Given the description of an element on the screen output the (x, y) to click on. 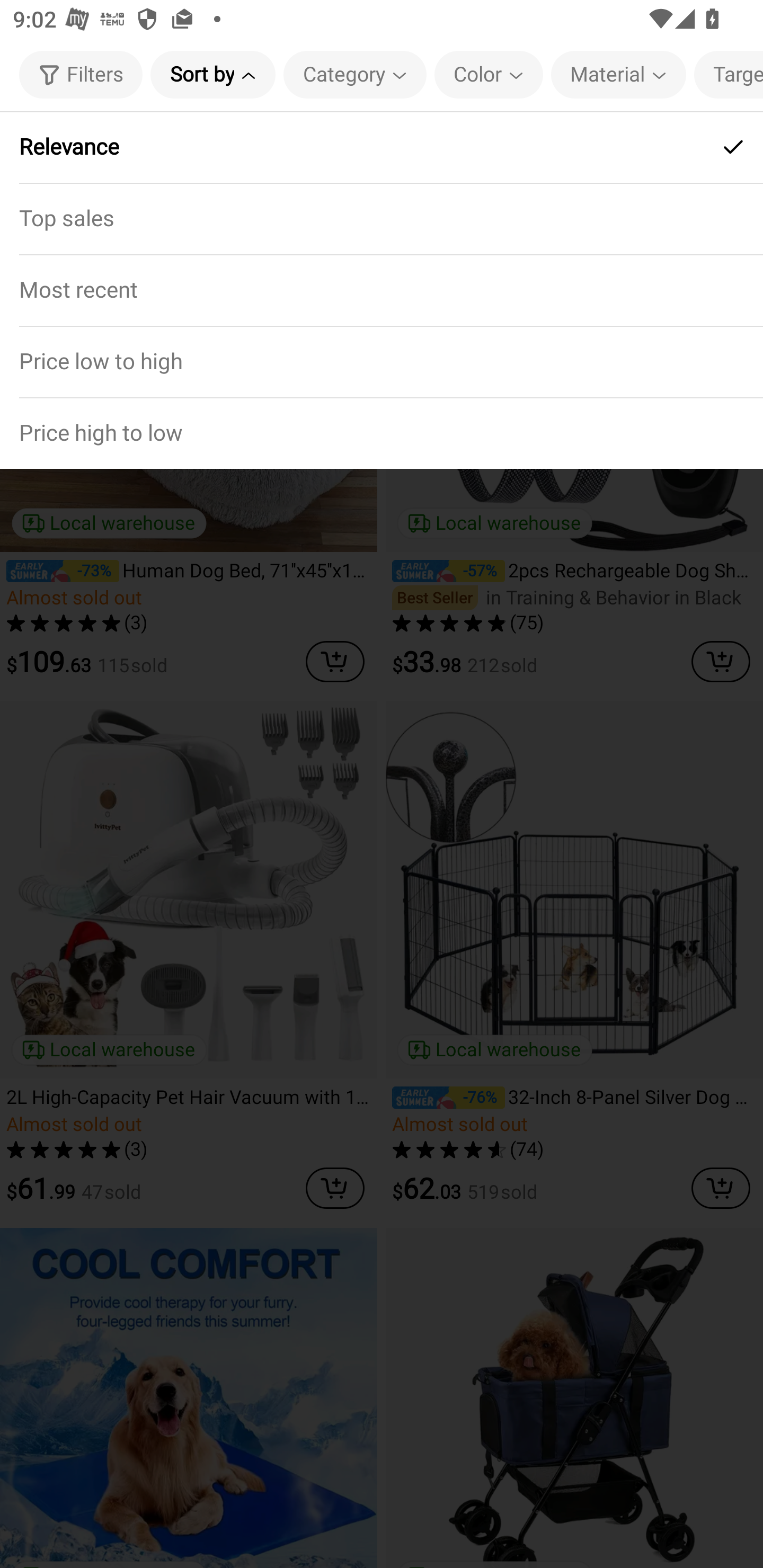
Filters (80, 74)
Sort by (212, 74)
Category (354, 74)
Color (488, 74)
Material (617, 74)
Target Species (728, 74)
Relevance (381, 147)
Top sales (381, 218)
Most recent (381, 290)
Price low to high (381, 361)
Price high to low (381, 432)
